Given the description of an element on the screen output the (x, y) to click on. 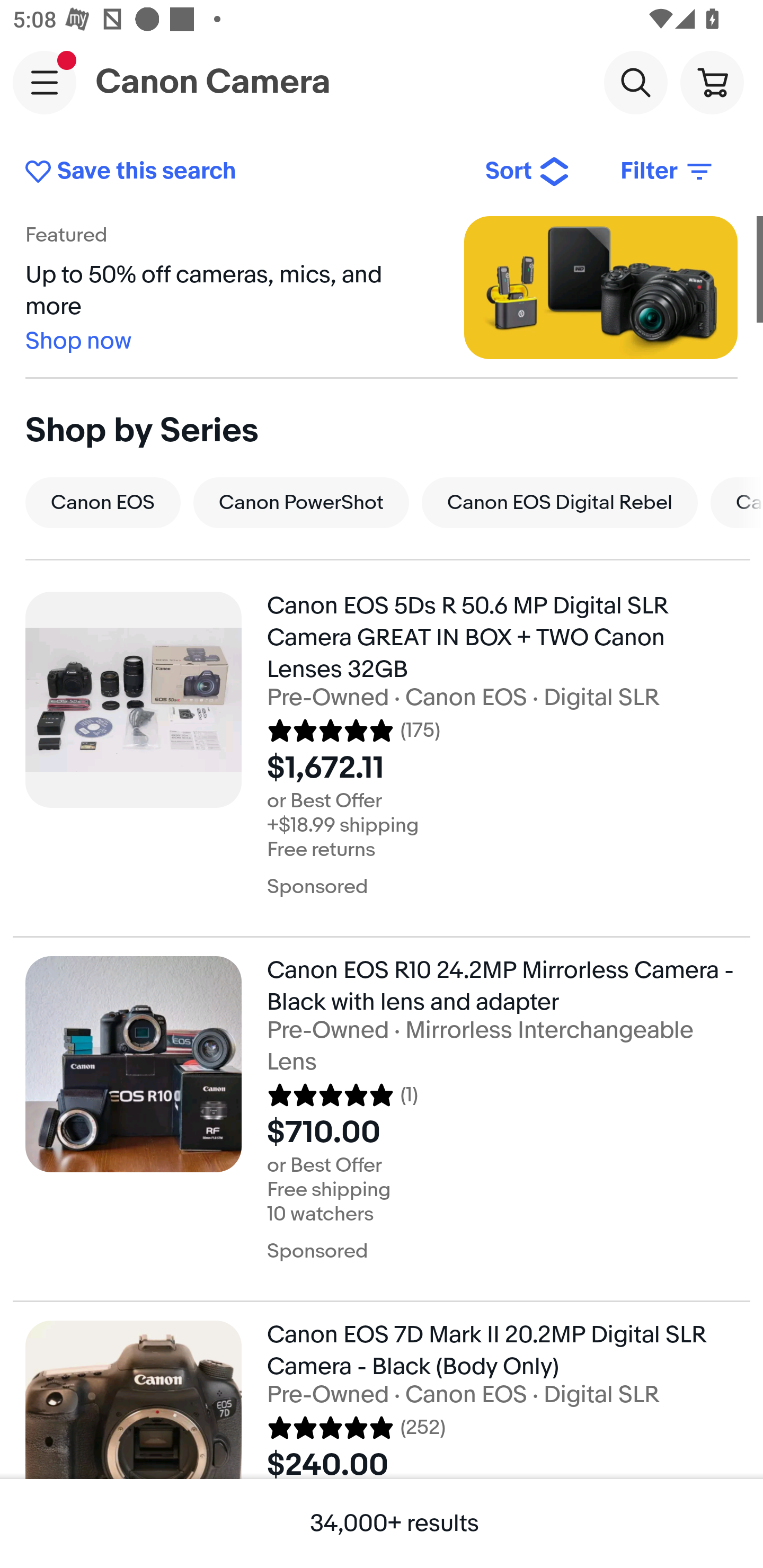
Main navigation, notification is pending, open (44, 82)
Search (635, 81)
Cart button shopping cart (711, 81)
Save this search (241, 171)
Sort (527, 171)
Filter (667, 171)
Canon EOS Canon EOS, Series (102, 502)
Canon PowerShot Canon PowerShot, Series (300, 502)
